Given the description of an element on the screen output the (x, y) to click on. 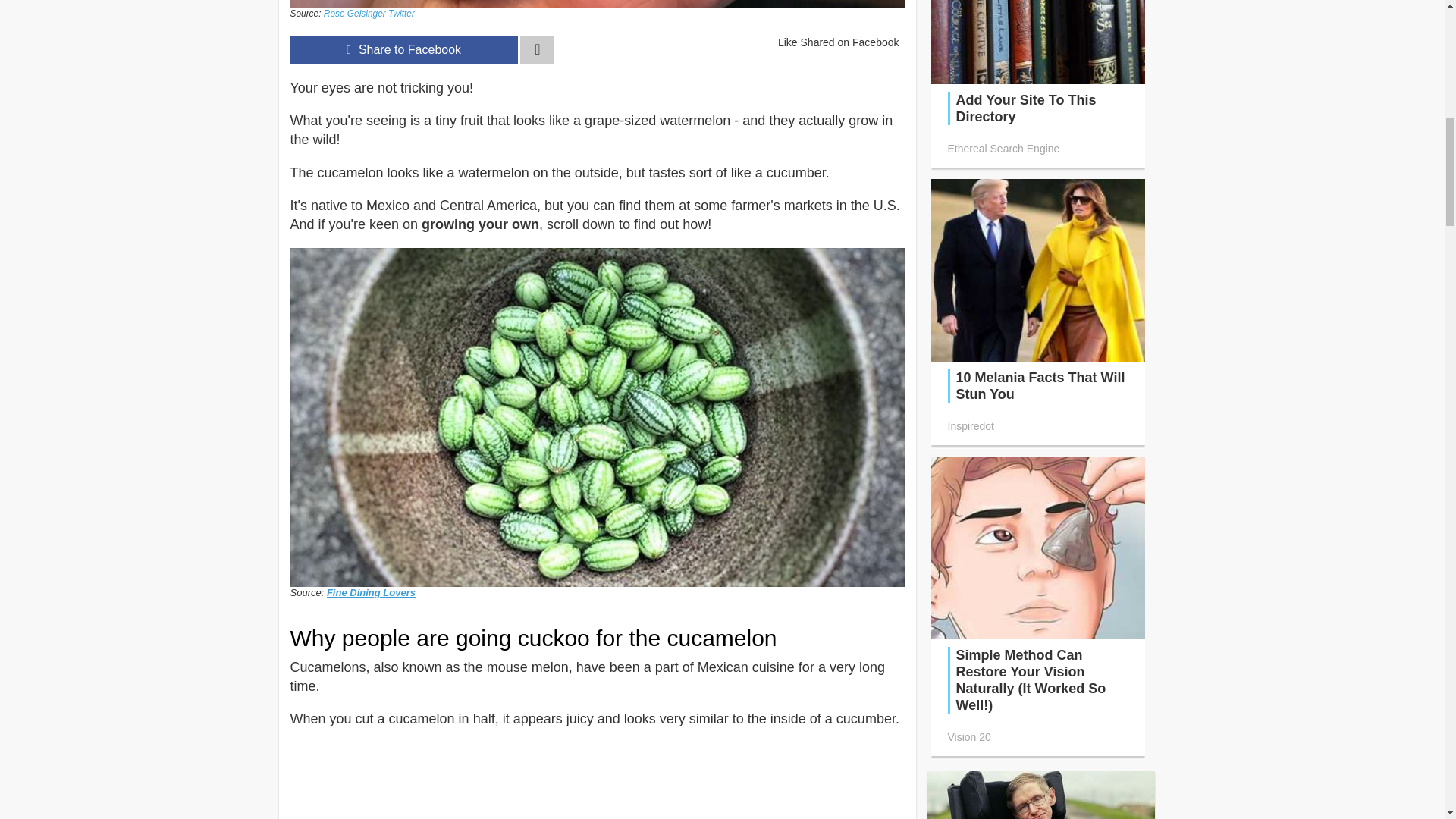
Fine Dining Lovers (370, 592)
facebook (402, 49)
Rose Gelsinger Twitter (368, 13)
Toggle navigation (536, 49)
